Given the description of an element on the screen output the (x, y) to click on. 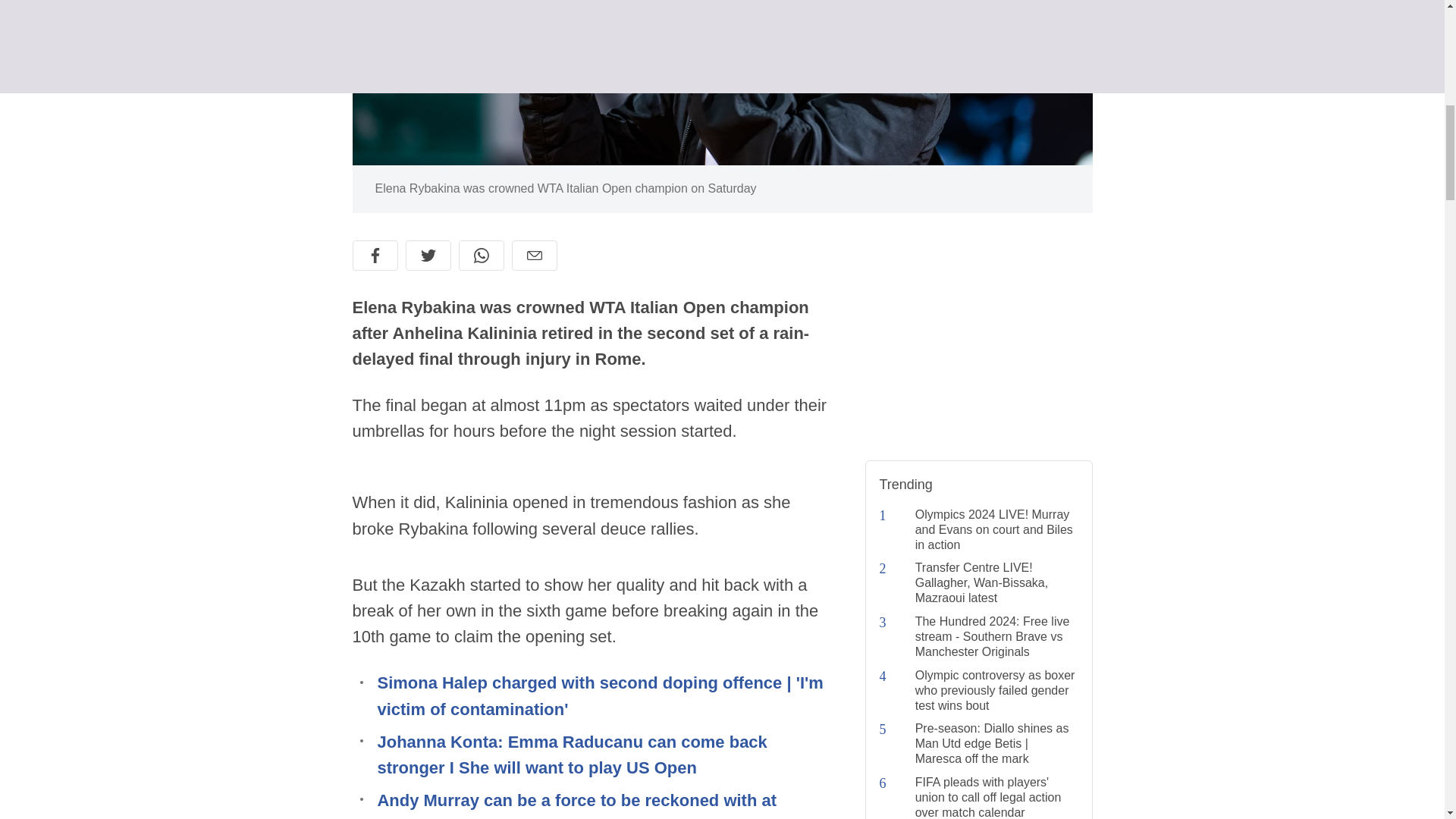
Share on Twitter (426, 255)
Share by email (533, 255)
Share on WhatsApp (480, 255)
Share on Facebook (374, 255)
